Given the description of an element on the screen output the (x, y) to click on. 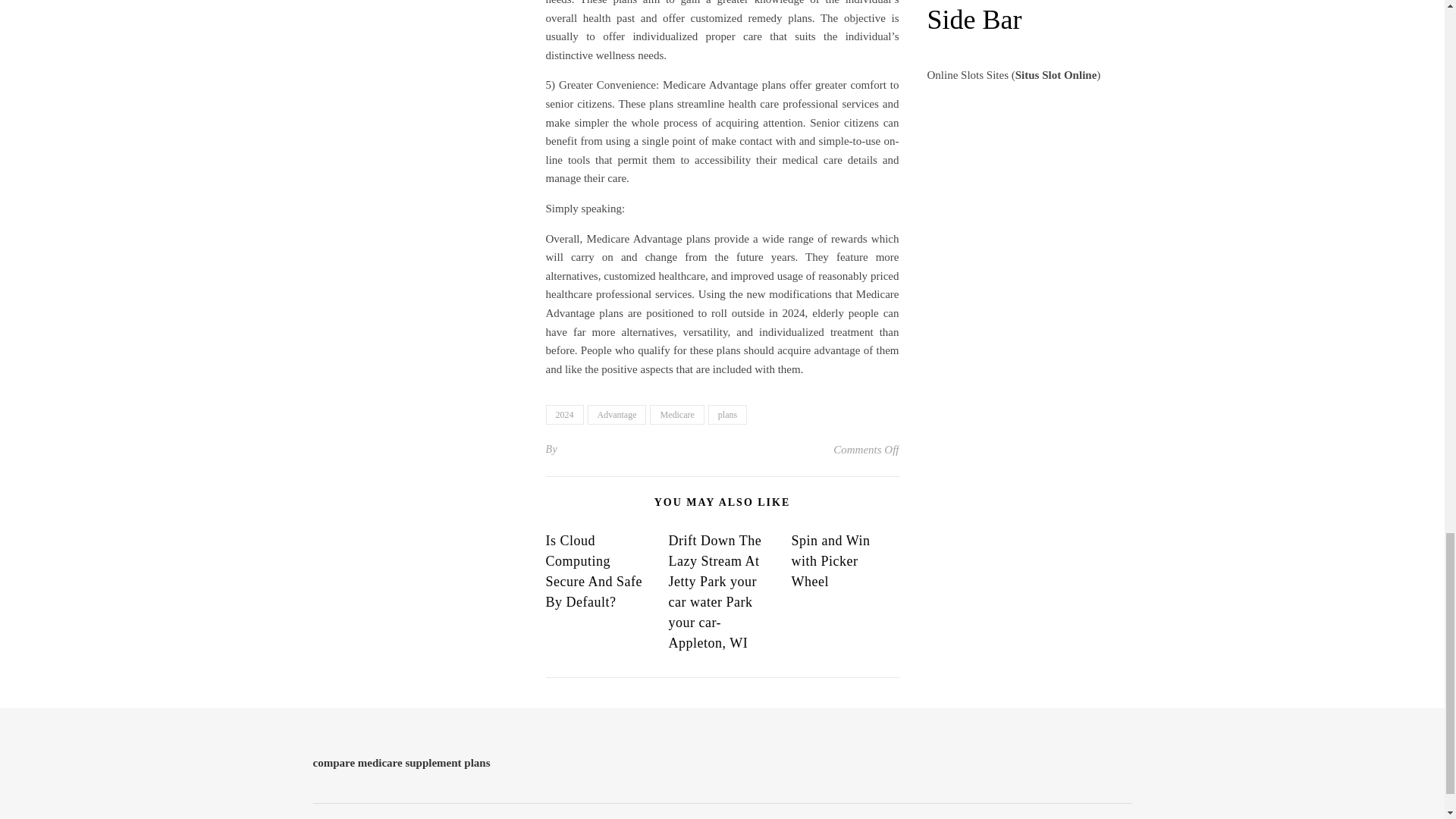
plans (726, 414)
2024 (564, 414)
Advantage (616, 414)
Spin and Win with Picker Wheel (829, 560)
Medicare (676, 414)
Is Cloud Computing Secure And Safe By Default? (594, 571)
